Given the description of an element on the screen output the (x, y) to click on. 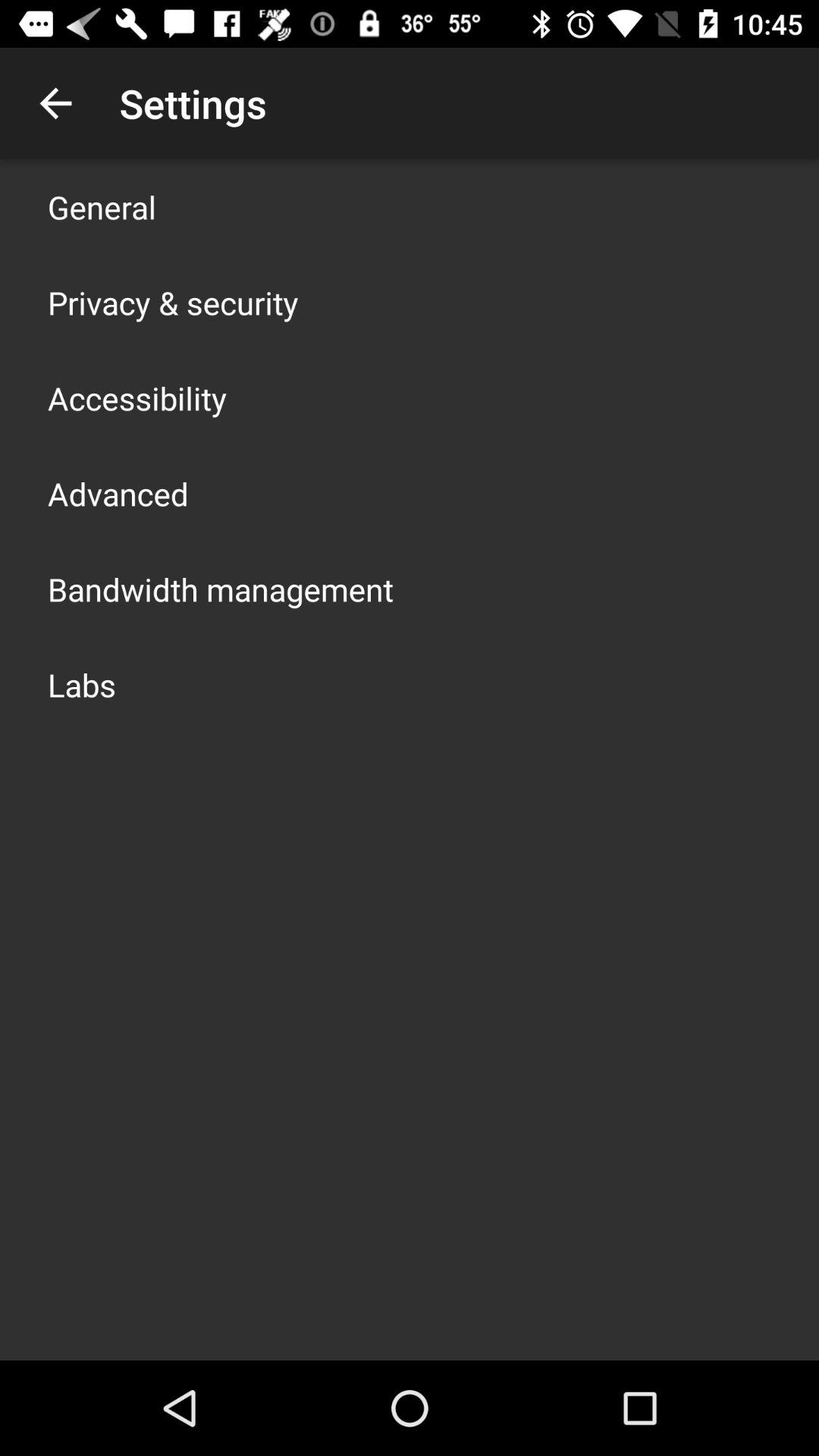
select item above the accessibility (172, 302)
